Given the description of an element on the screen output the (x, y) to click on. 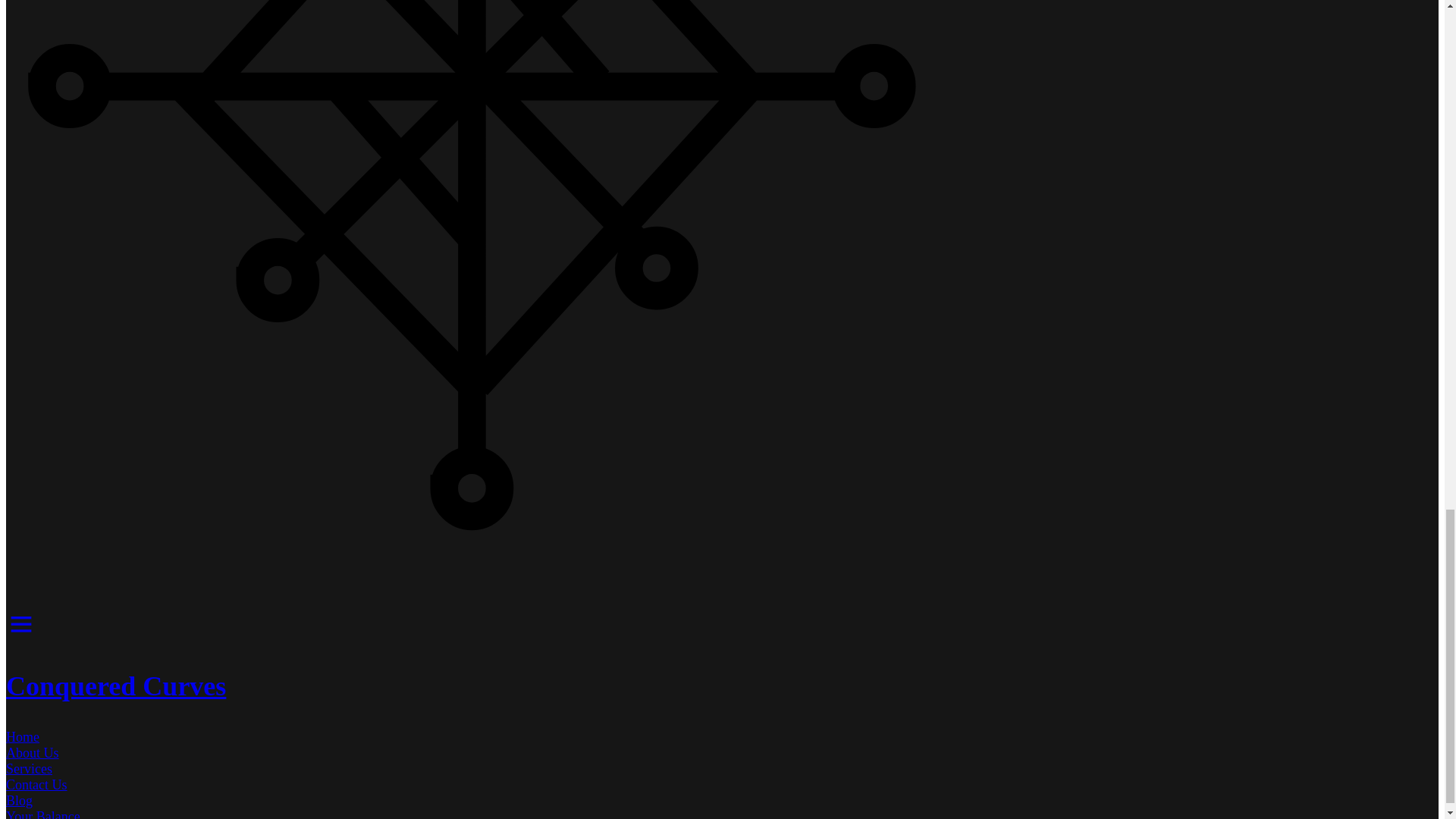
Services (28, 768)
Home (22, 736)
Blog (18, 800)
Contact Us (35, 784)
About Us (32, 752)
